Given the description of an element on the screen output the (x, y) to click on. 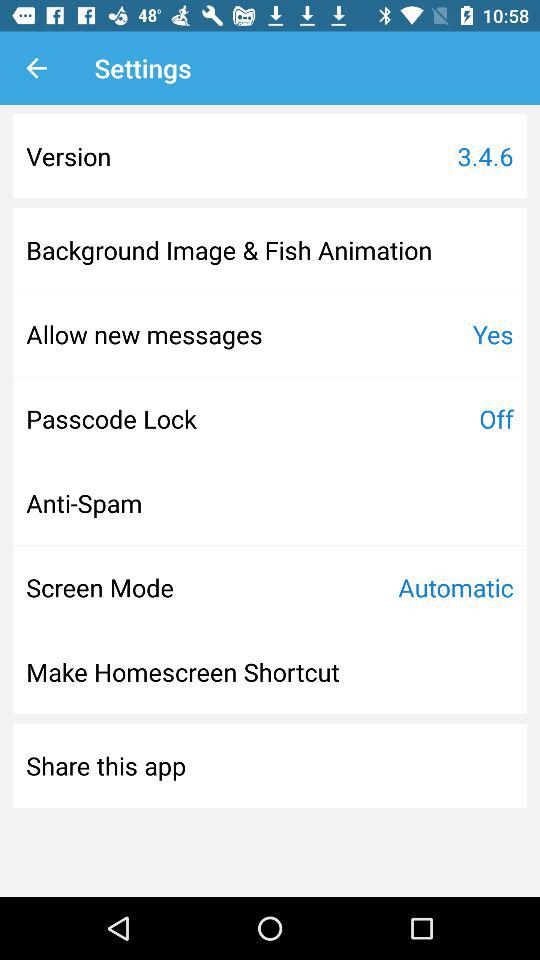
jump until share this app (106, 765)
